Given the description of an element on the screen output the (x, y) to click on. 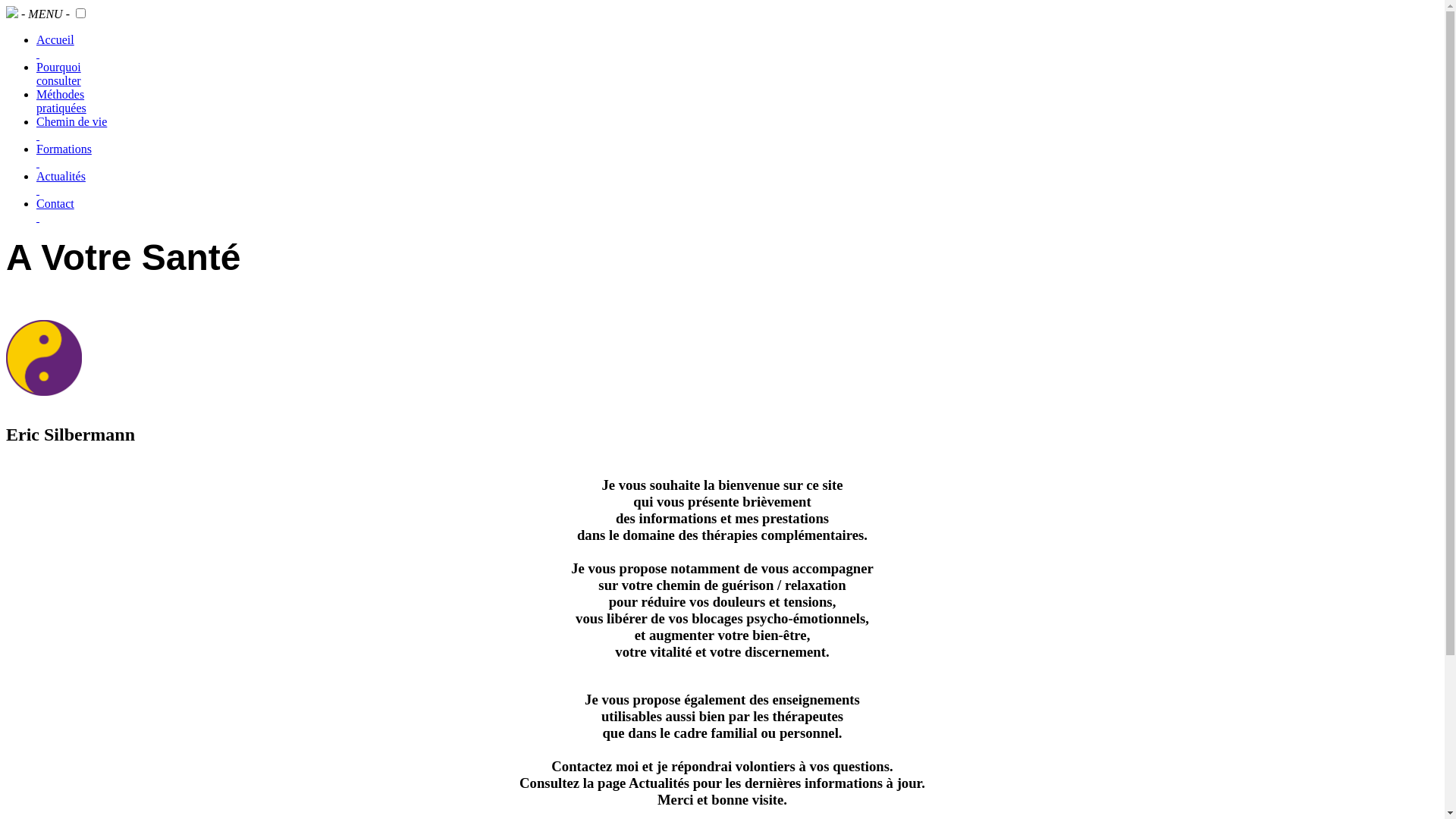
Contact
  Element type: text (55, 210)
Pourquoi
consulter Element type: text (58, 73)
Accueil
  Element type: text (55, 46)
Chemin de vie
  Element type: text (71, 128)
Formations
  Element type: text (63, 155)
